Given the description of an element on the screen output the (x, y) to click on. 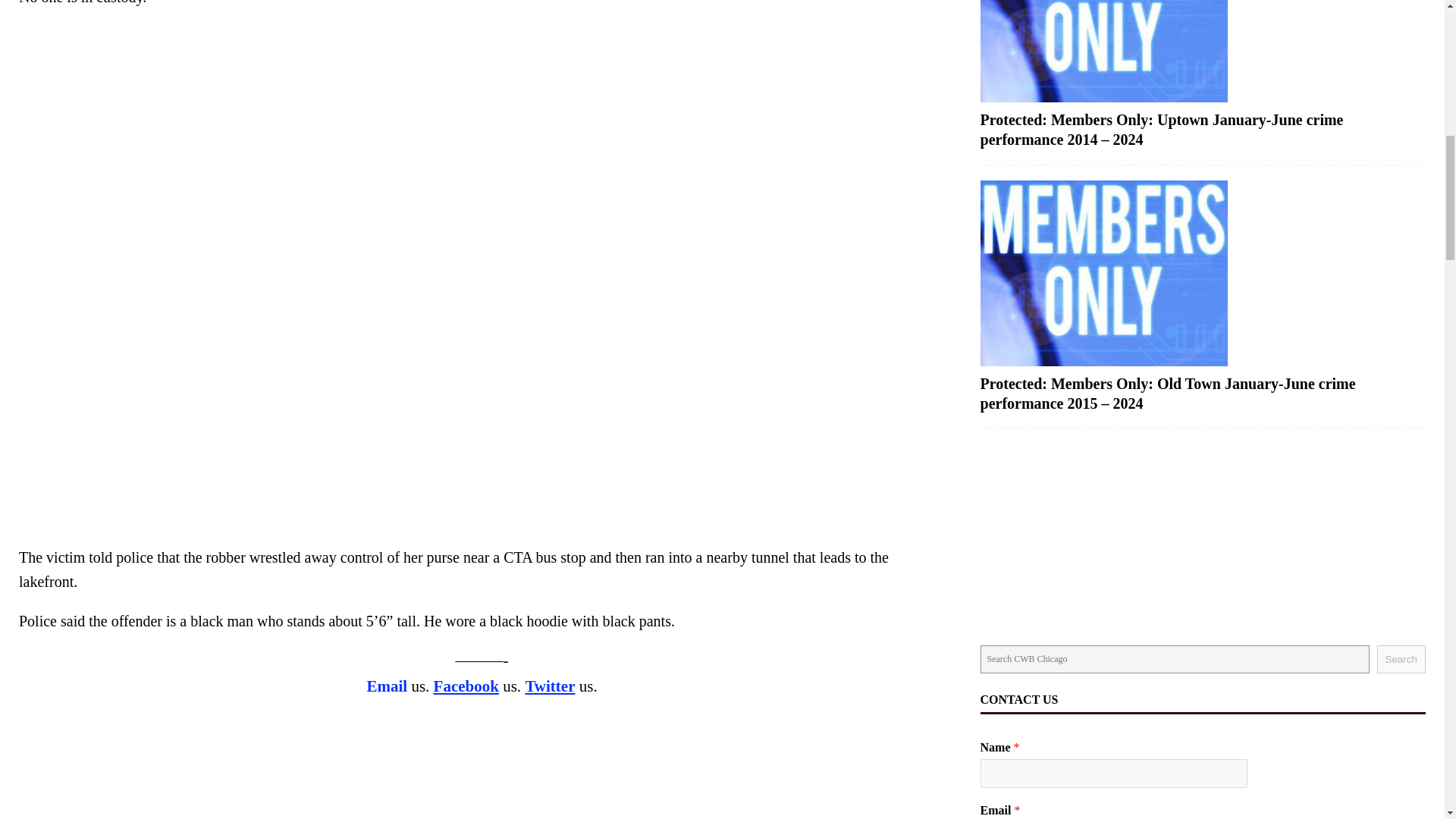
Twitter (549, 686)
Email (386, 686)
Search (1401, 659)
Facebook (466, 686)
